Given the description of an element on the screen output the (x, y) to click on. 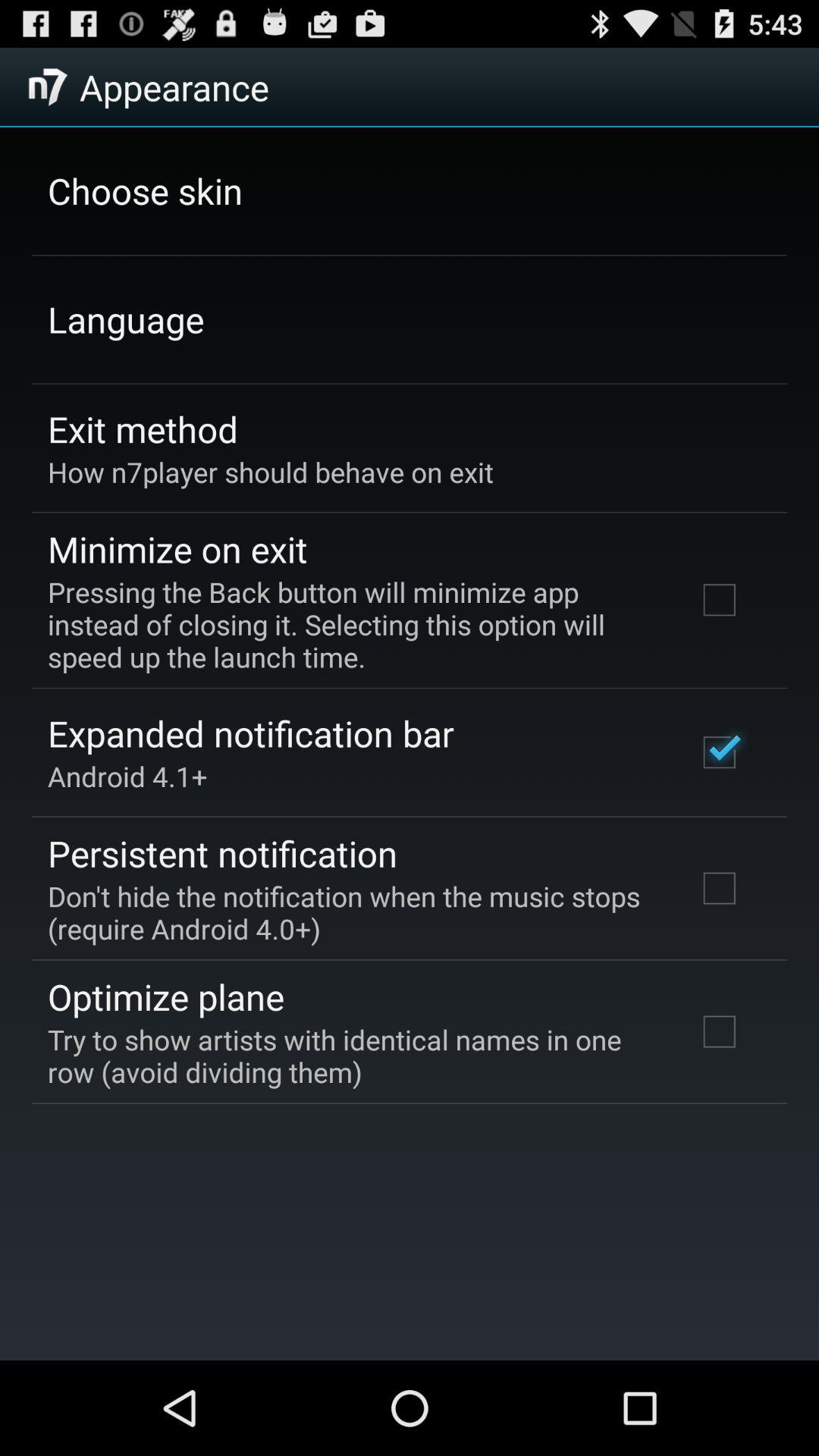
jump to language icon (125, 319)
